Given the description of an element on the screen output the (x, y) to click on. 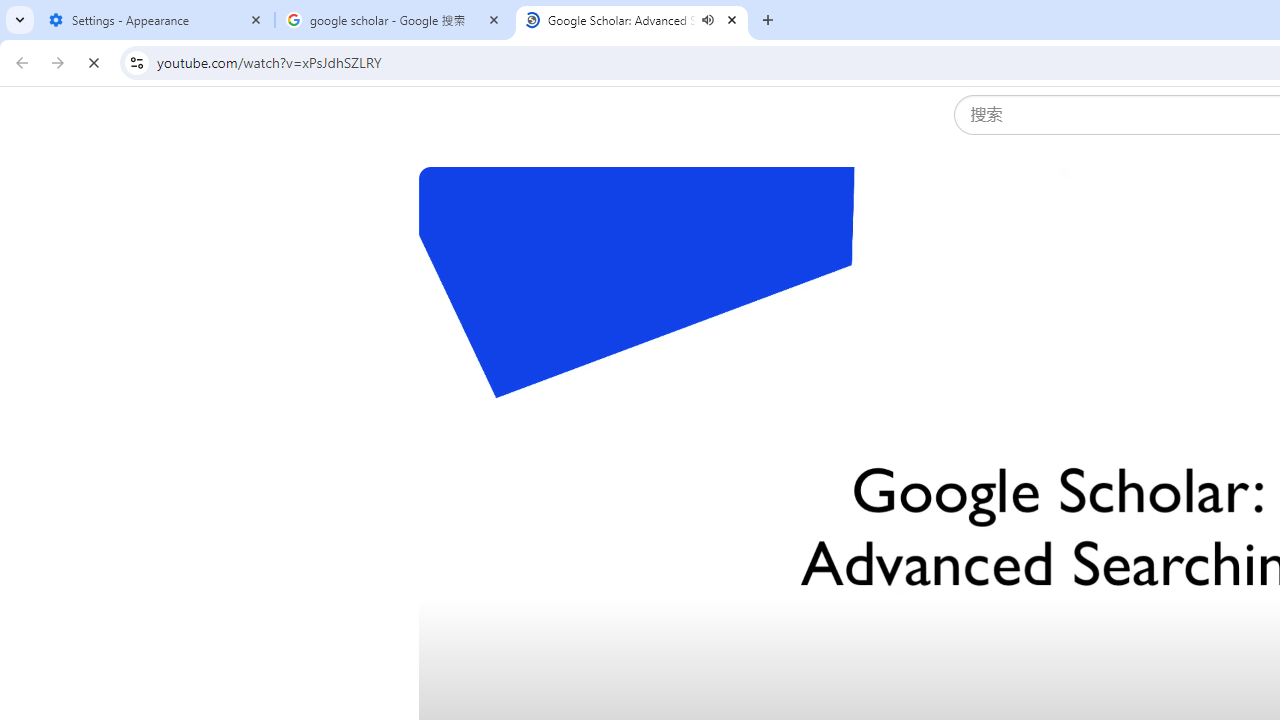
Google Scholar: Advanced Searching - YouTube - Audio playing (632, 20)
Settings - Appearance (156, 20)
